Given the description of an element on the screen output the (x, y) to click on. 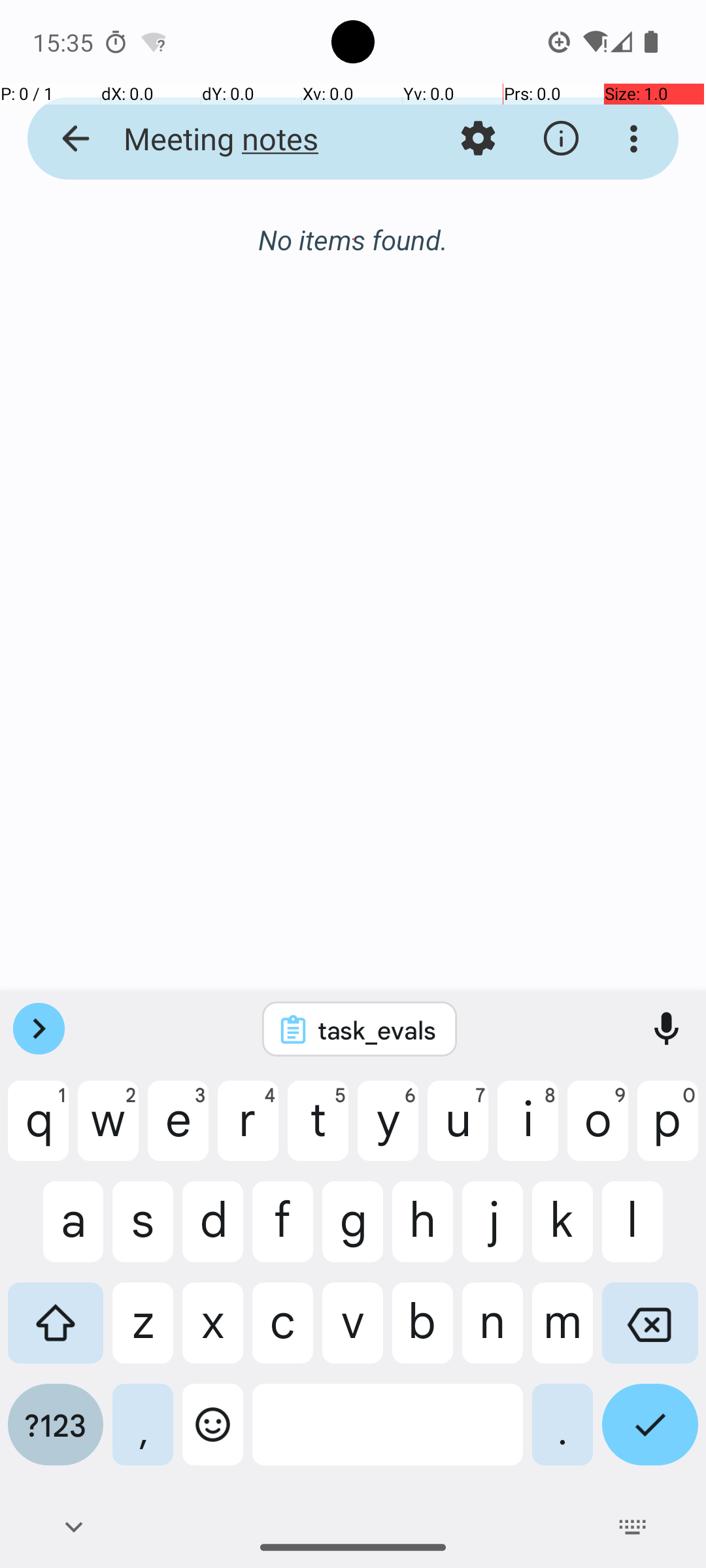
Meeting notes Element type: android.widget.EditText (252, 138)
